Given the description of an element on the screen output the (x, y) to click on. 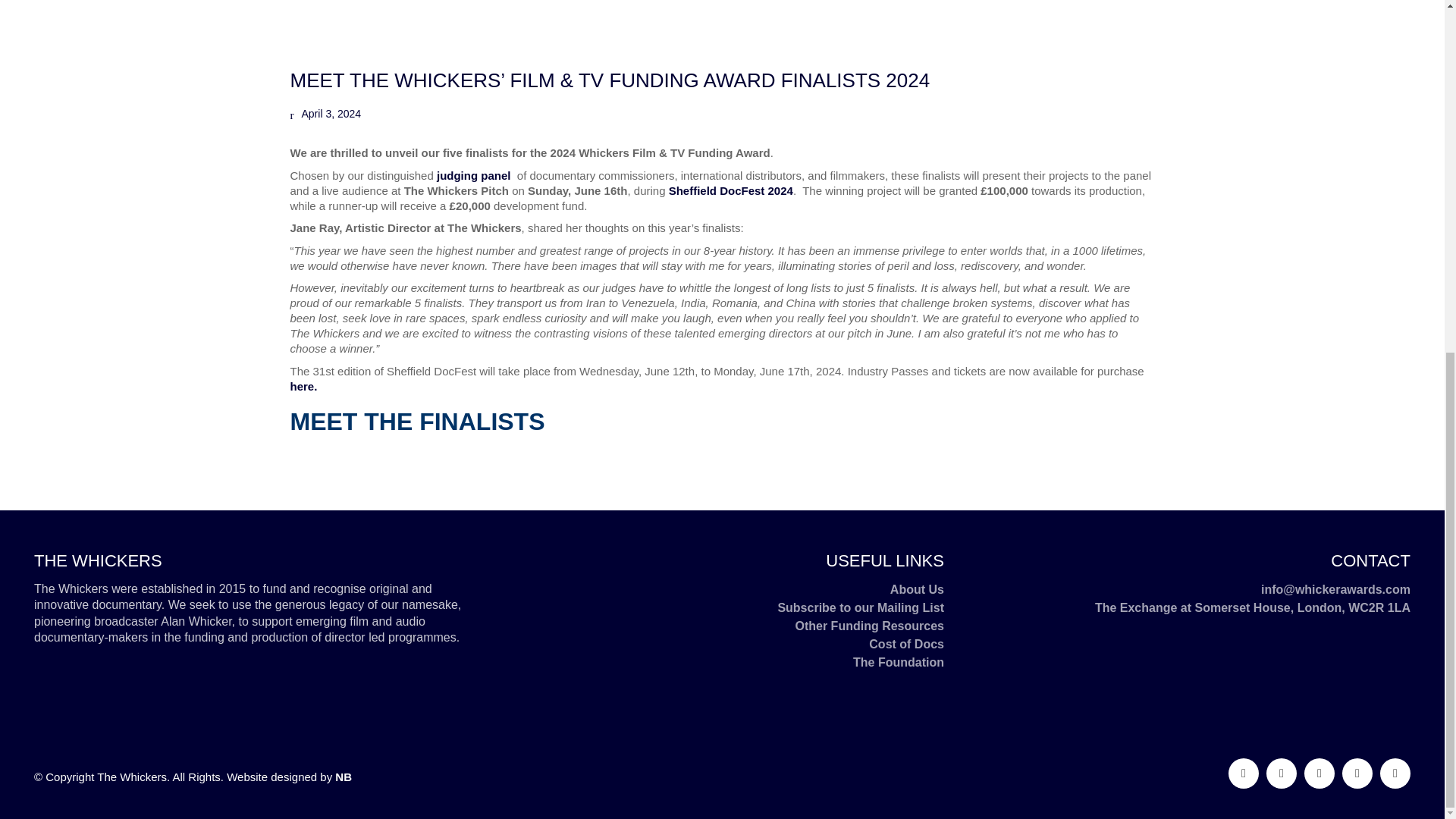
Twitter X (1319, 773)
Subscribe to our Mailing List (860, 607)
Cost of Docs (906, 644)
About Us (916, 589)
MEET THE FINALISTS (416, 420)
Other Funding Resources (868, 626)
YouTube (1395, 773)
judging panel (473, 174)
Facebook (1281, 773)
The Foundation (898, 662)
Instagram (1357, 773)
Email (1243, 773)
here. (303, 386)
NB (343, 776)
Sheffield DocFest 2024 (730, 190)
